Given the description of an element on the screen output the (x, y) to click on. 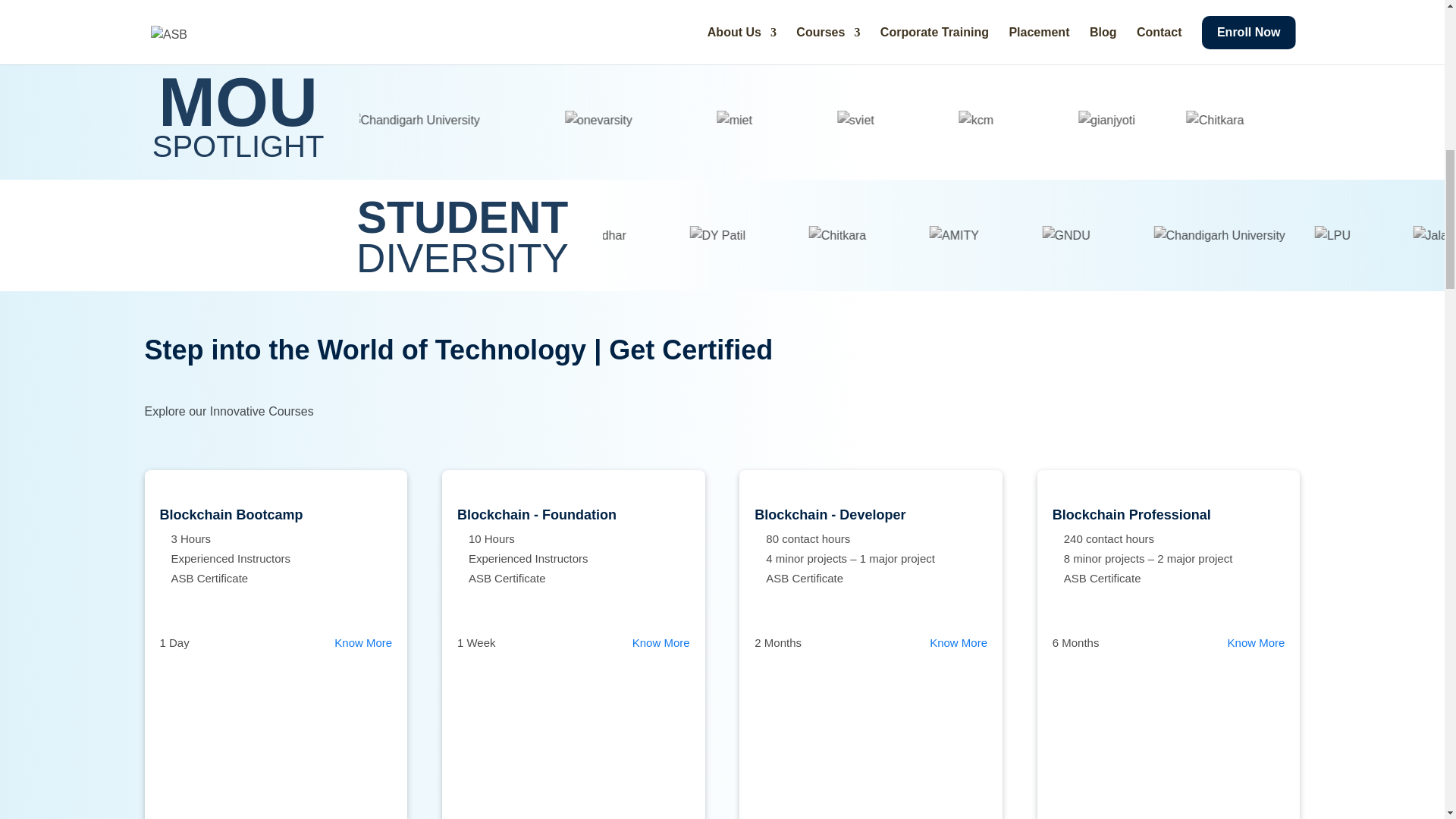
Know More (958, 642)
Know More (362, 642)
Know More (660, 642)
Know More (1256, 642)
